Given the description of an element on the screen output the (x, y) to click on. 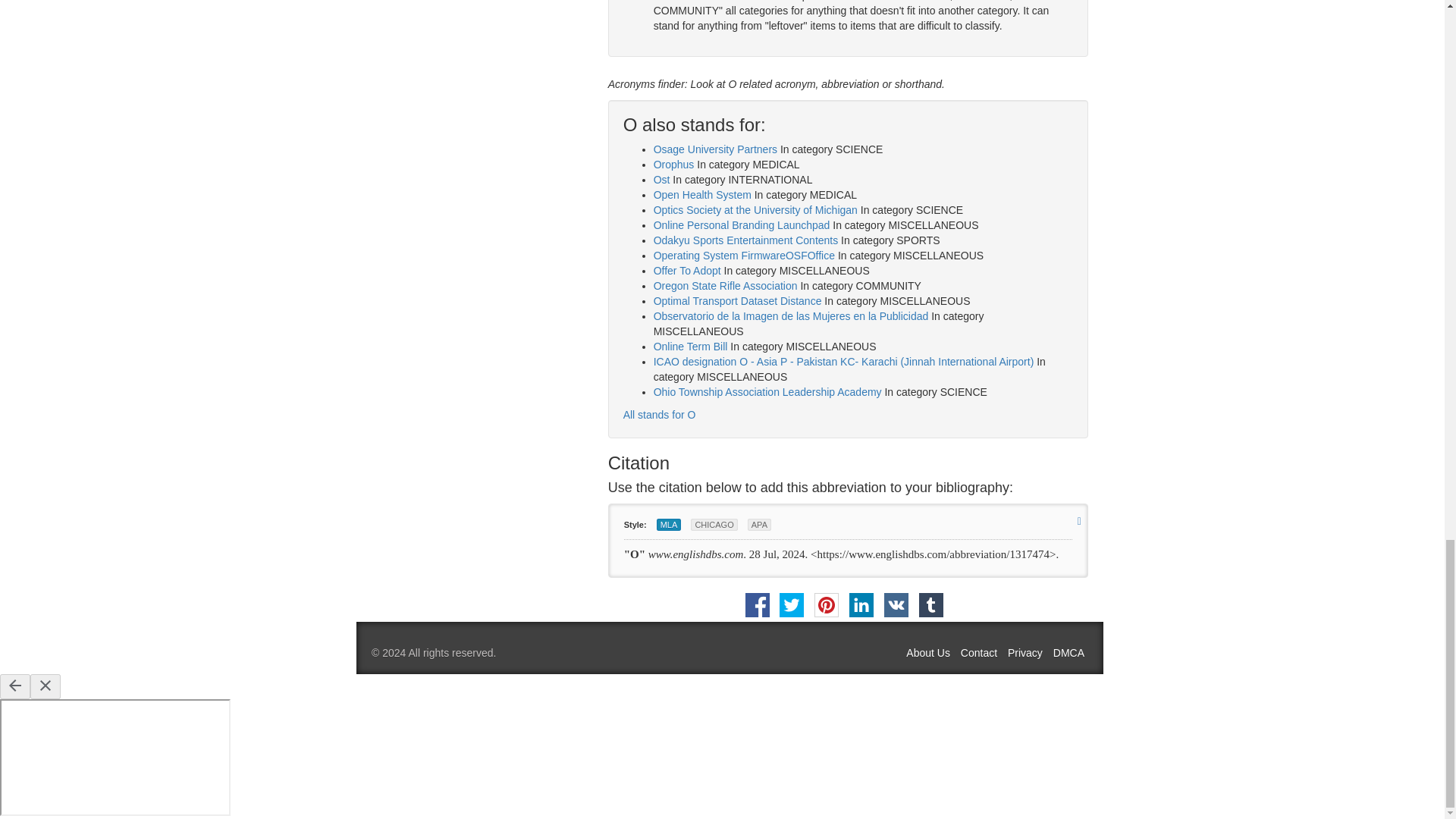
VK (895, 604)
Facebook (757, 604)
Linked (860, 604)
Tumbler (930, 604)
Copy to clipboard (1079, 521)
Pinterest (825, 604)
Twitter (790, 604)
